Given the description of an element on the screen output the (x, y) to click on. 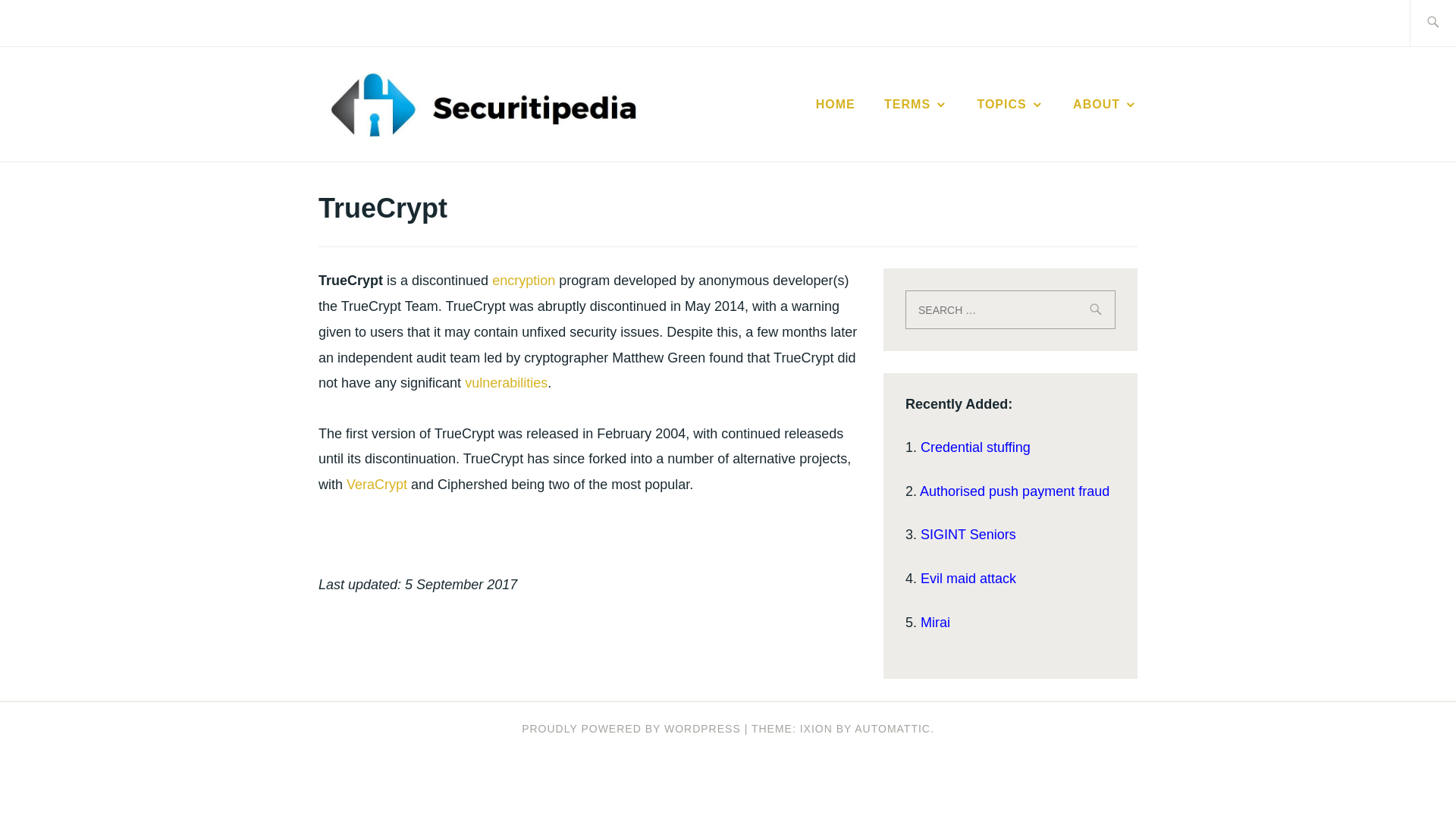
TOPICS (1009, 104)
Search for: (1010, 309)
vulnerabilities (505, 382)
ABOUT (1105, 104)
TERMS (915, 104)
HOME (835, 104)
SECURITIPEDIA (802, 127)
encryption (523, 280)
Search (47, 22)
